Given the description of an element on the screen output the (x, y) to click on. 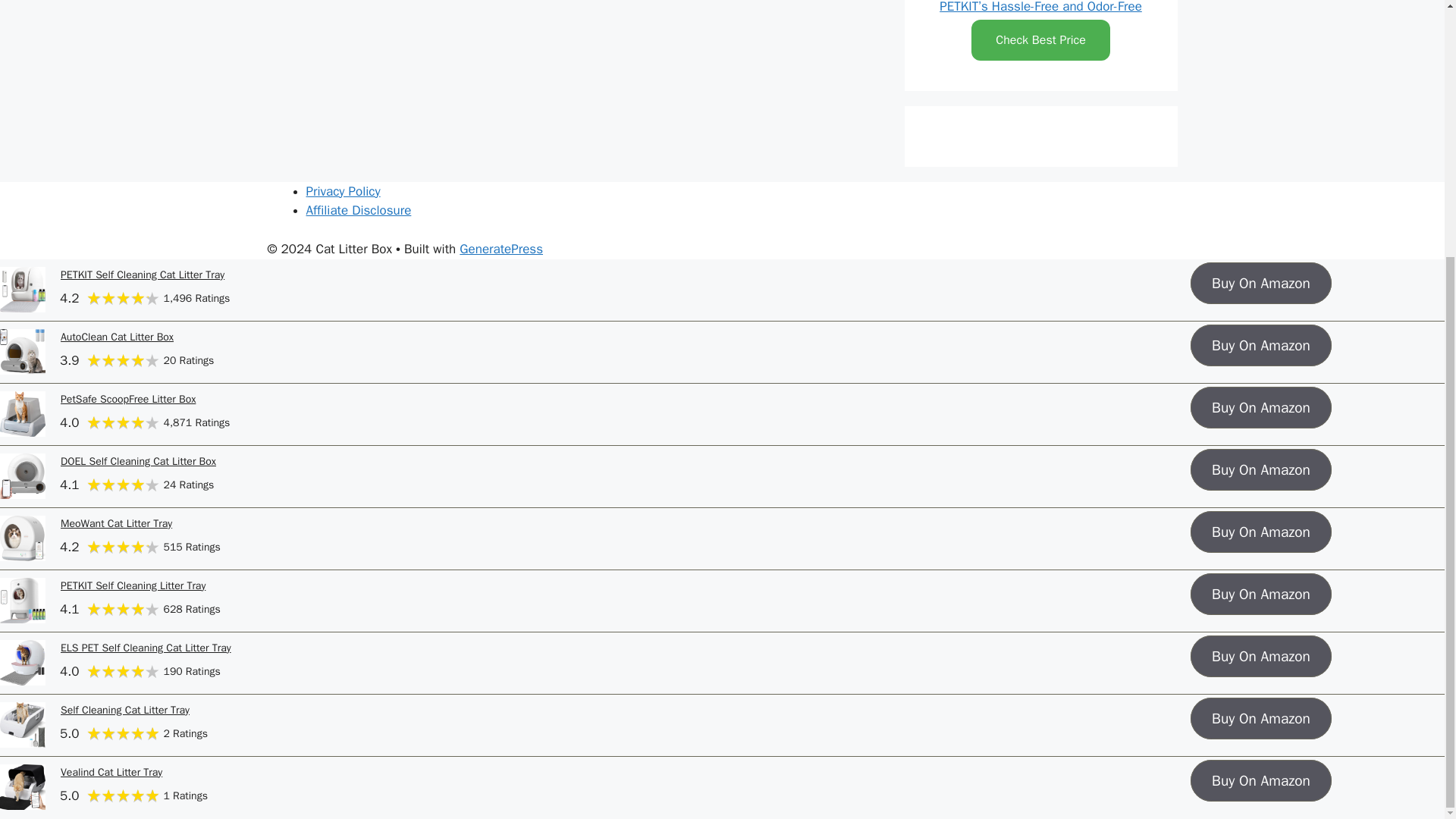
PETKIT Self Cleaning Litter Tray (133, 585)
Vealind Cat Litter Tray (111, 771)
Check Best Price (1040, 39)
Buy On Amazon (1261, 656)
Buy On Amazon (1261, 781)
Affiliate Disclosure (358, 210)
PETKIT Self Cleaning Cat Litter Tray (142, 274)
Privacy Policy (342, 191)
Buy On Amazon (1261, 532)
MeoWant Cat Litter Tray (116, 522)
